Given the description of an element on the screen output the (x, y) to click on. 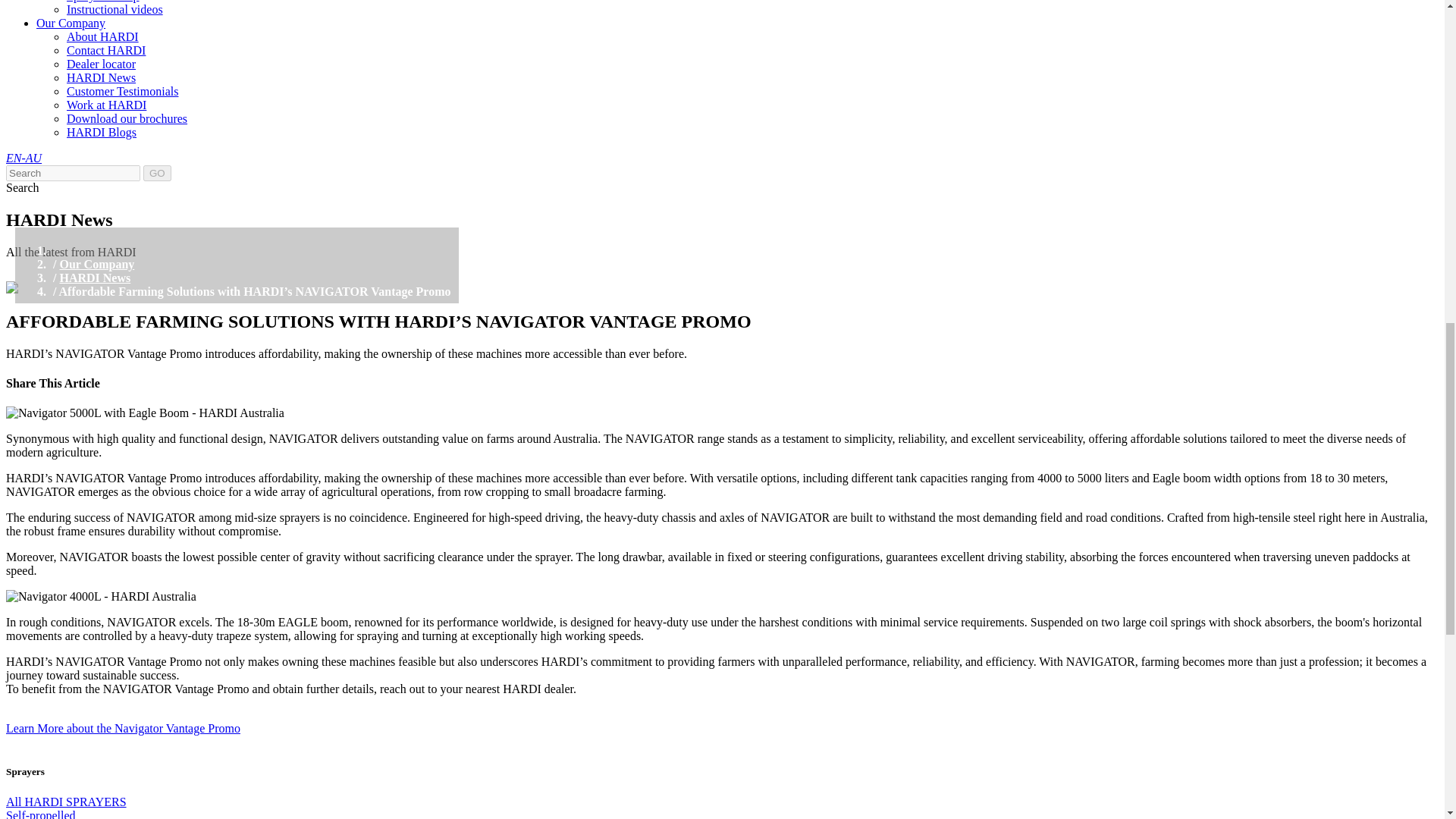
GO (156, 172)
GO (156, 172)
